Given the description of an element on the screen output the (x, y) to click on. 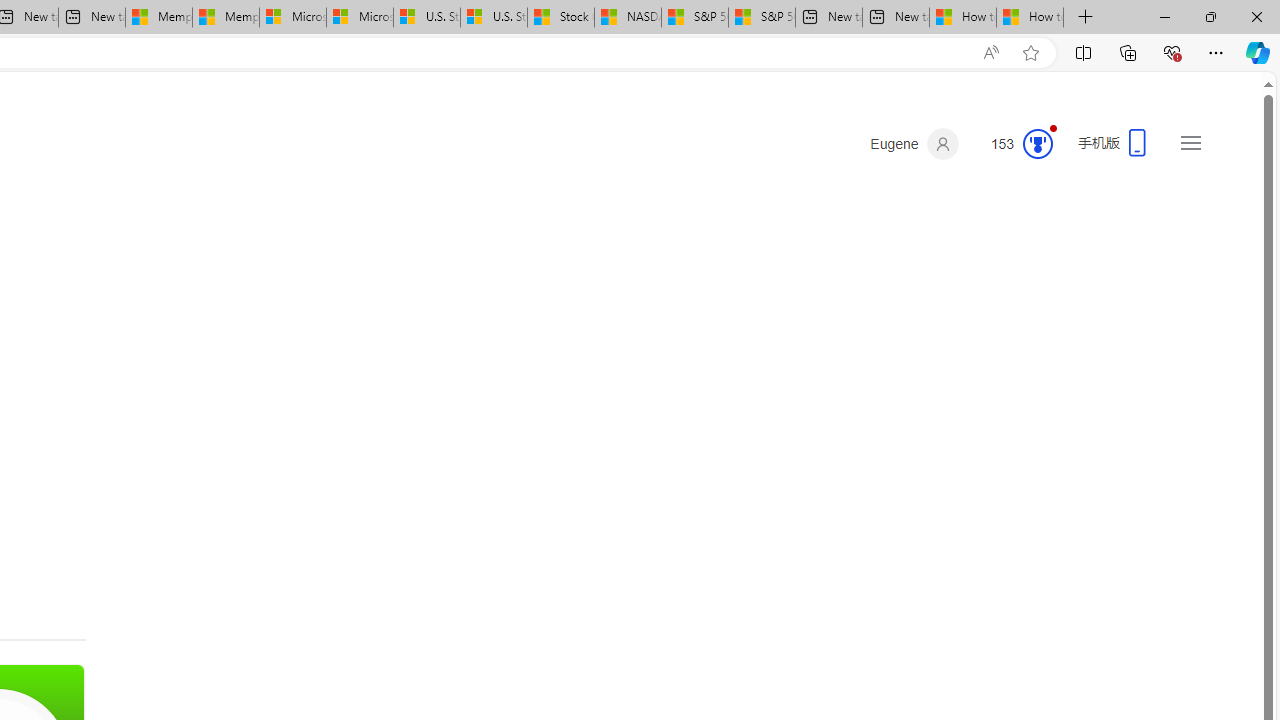
S&P 500, Nasdaq end lower, weighed by Nvidia dip | Watch (761, 17)
How to Use a Monitor With Your Closed Laptop (1030, 17)
Microsoft Rewards 153 (1014, 143)
Class: medal-circled (1037, 143)
